Given the description of an element on the screen output the (x, y) to click on. 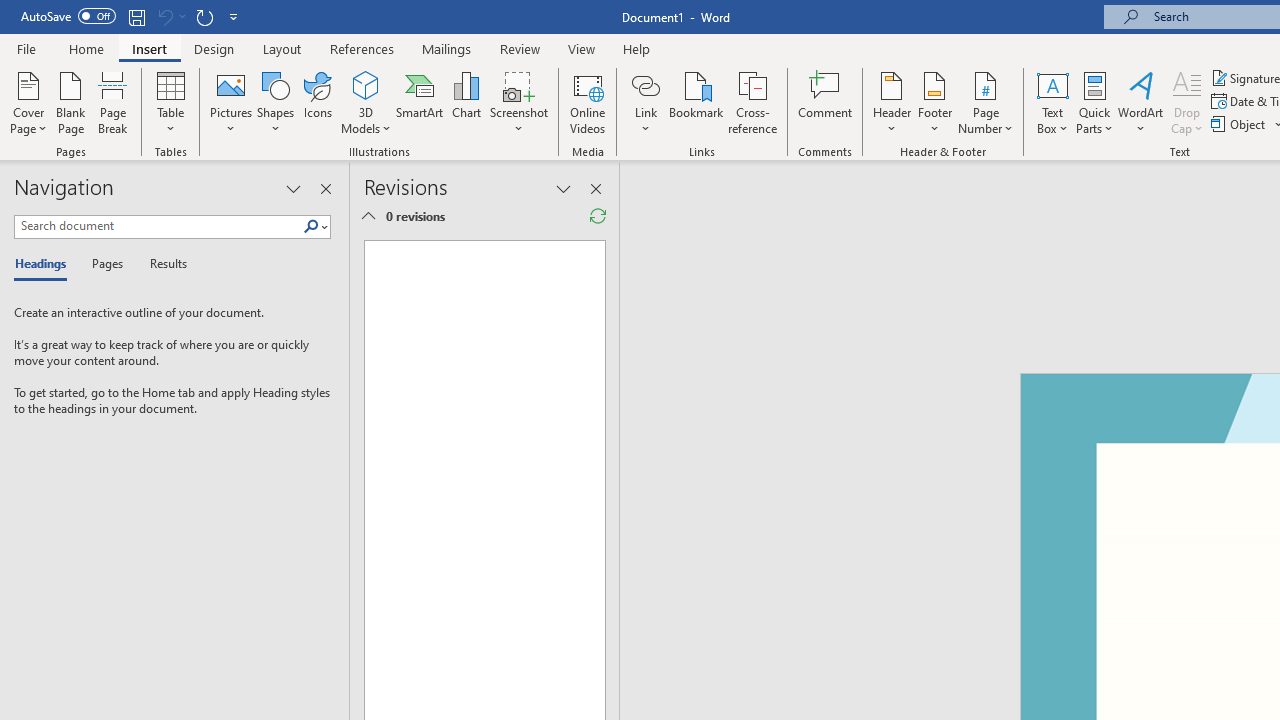
Shapes (275, 102)
Repeat Doc Close (204, 15)
Object... (1240, 124)
Refresh Reviewing Pane (597, 215)
SmartArt... (419, 102)
Page Number (986, 102)
3D Models (366, 102)
Show Detailed Summary (368, 215)
Pictures (230, 102)
Cross-reference... (752, 102)
